Given the description of an element on the screen output the (x, y) to click on. 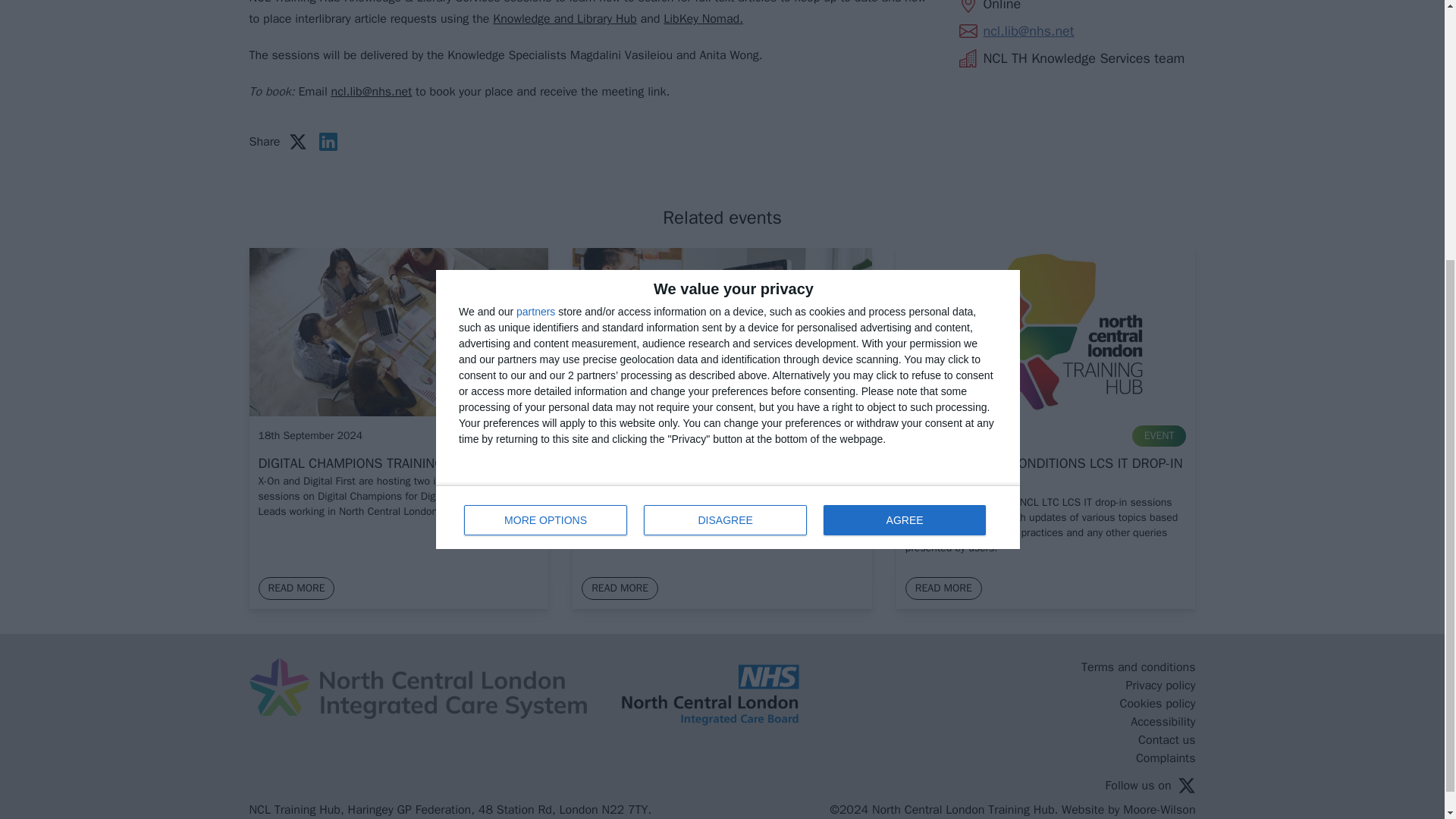
X (1185, 785)
Accessibility (1163, 721)
READ MORE (727, 134)
READ MORE (295, 588)
DIGITAL CHAMPIONS TRAINING - SEPTEMBER (619, 588)
Privacy policy (393, 463)
READ MORE (1160, 685)
Terms and conditions (943, 588)
NCL LONG TERM CONDITIONS LCS IT DROP-IN SESSION (1138, 667)
